Given the description of an element on the screen output the (x, y) to click on. 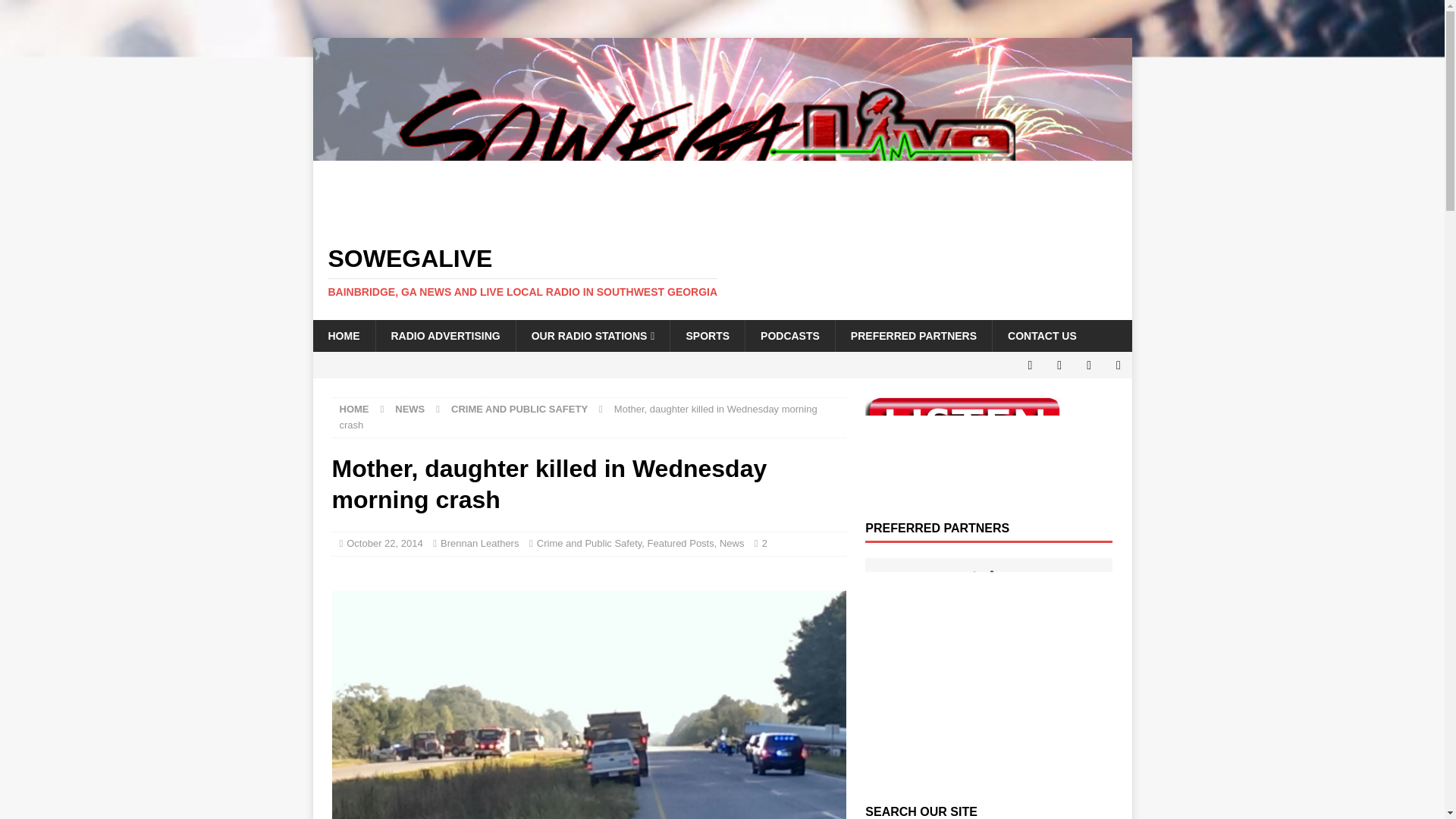
Brennan Leathers (479, 542)
14139840792711 (588, 704)
CONTACT US (1041, 336)
CRIME AND PUBLIC SAFETY (519, 408)
October 22, 2014 (384, 542)
SPORTS (706, 336)
RADIO ADVERTISING (444, 336)
Sowegalive (721, 272)
News (731, 542)
NEWS (409, 408)
PREFERRED PARTNERS (912, 336)
Sowegalive (722, 218)
OUR RADIO STATIONS (592, 336)
PODCASTS (789, 336)
